Given the description of an element on the screen output the (x, y) to click on. 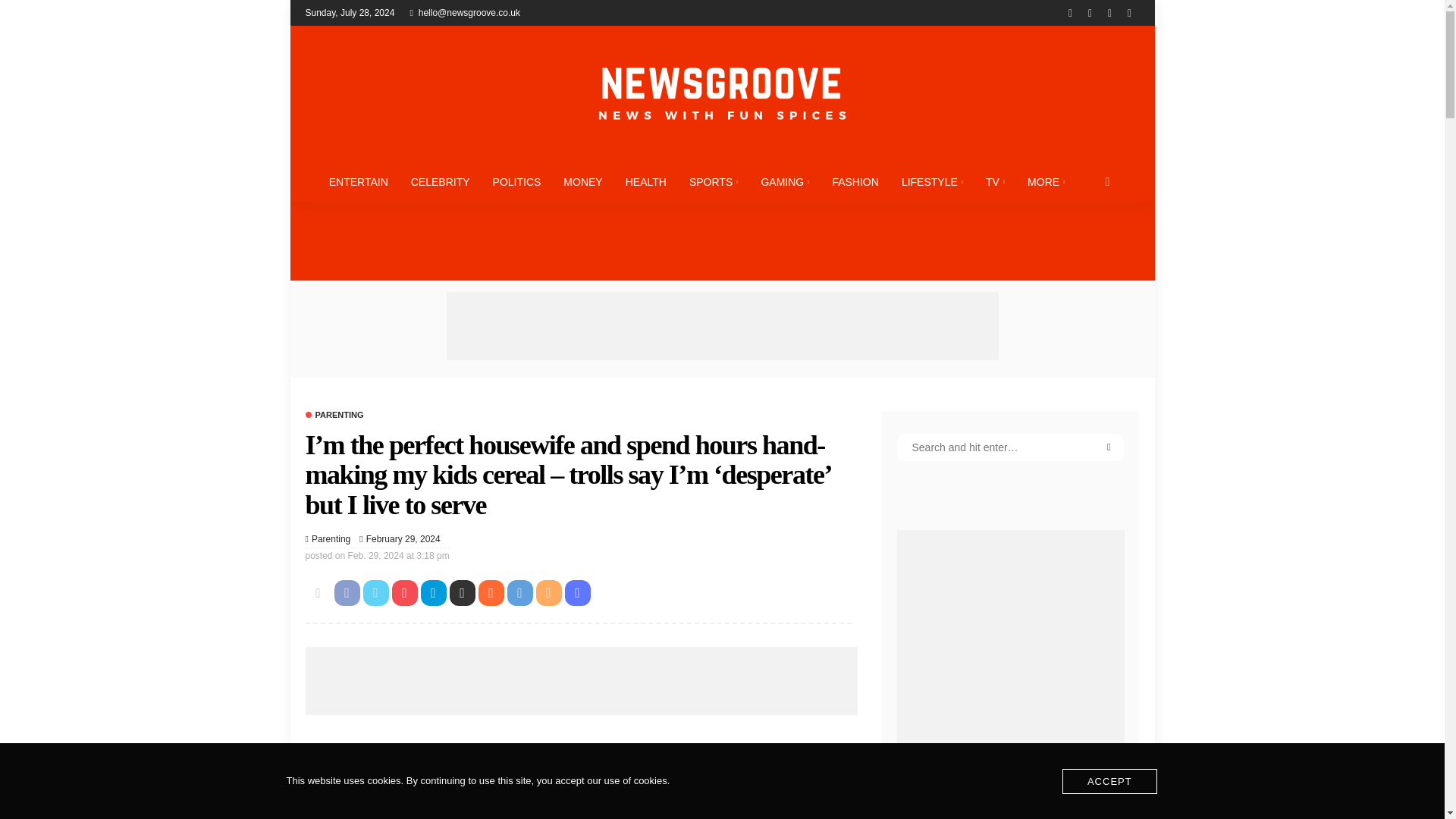
Parenting (330, 539)
ENTERTAIN (357, 181)
NewsGroove Uk (721, 93)
SPORTS (713, 181)
Advertisement (580, 680)
MONEY (581, 181)
GAMING (785, 181)
POLITICS (517, 181)
HEALTH (646, 181)
search (1106, 181)
CELEBRITY (439, 181)
Advertisement (721, 325)
Parenting (333, 415)
